Given the description of an element on the screen output the (x, y) to click on. 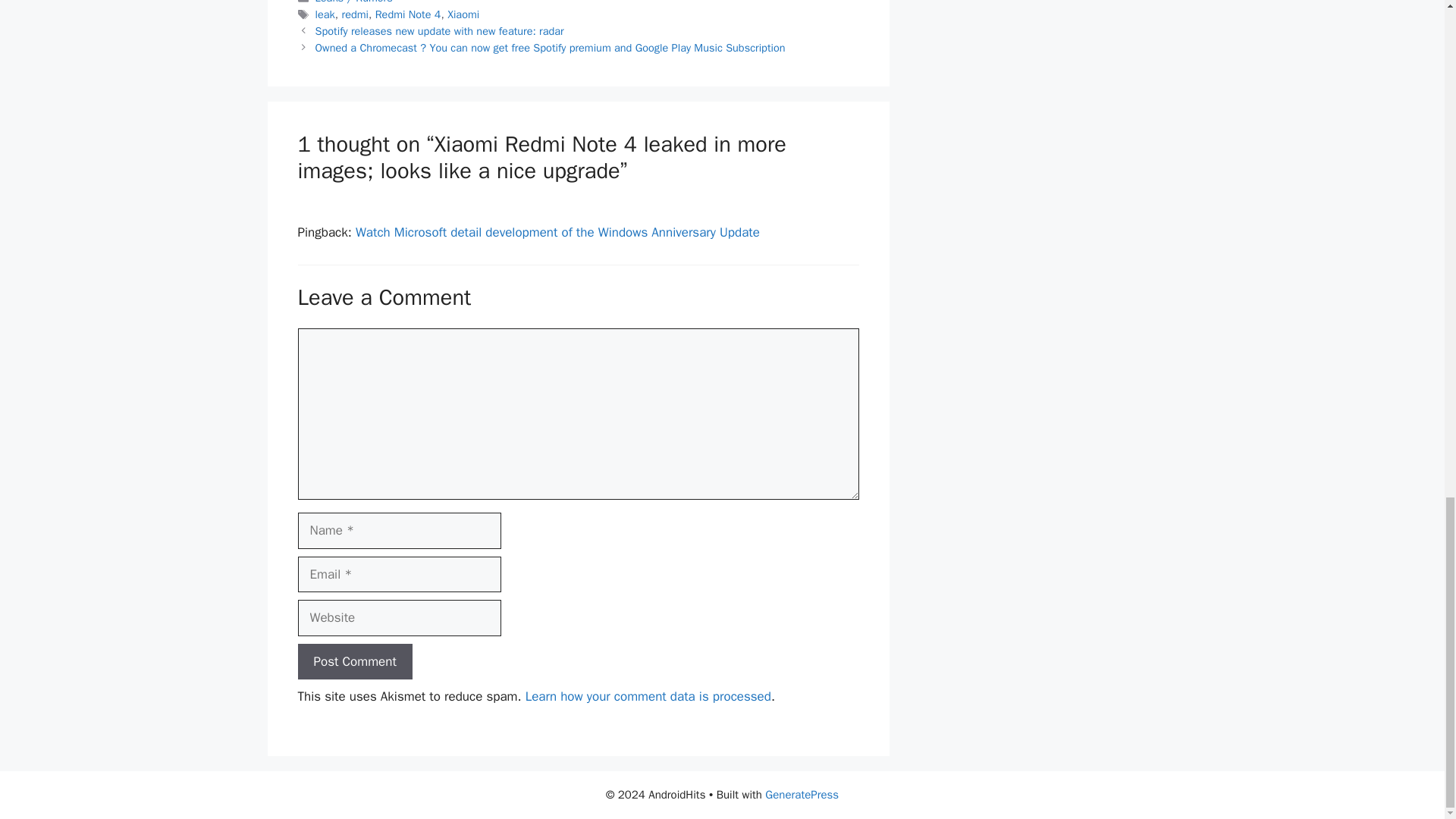
Xiaomi (462, 14)
GeneratePress (801, 794)
Post Comment (354, 661)
Spotify releases new update with new feature: radar (439, 30)
Learn how your comment data is processed (648, 696)
Redmi Note 4 (408, 14)
redmi (355, 14)
Post Comment (354, 661)
